Given the description of an element on the screen output the (x, y) to click on. 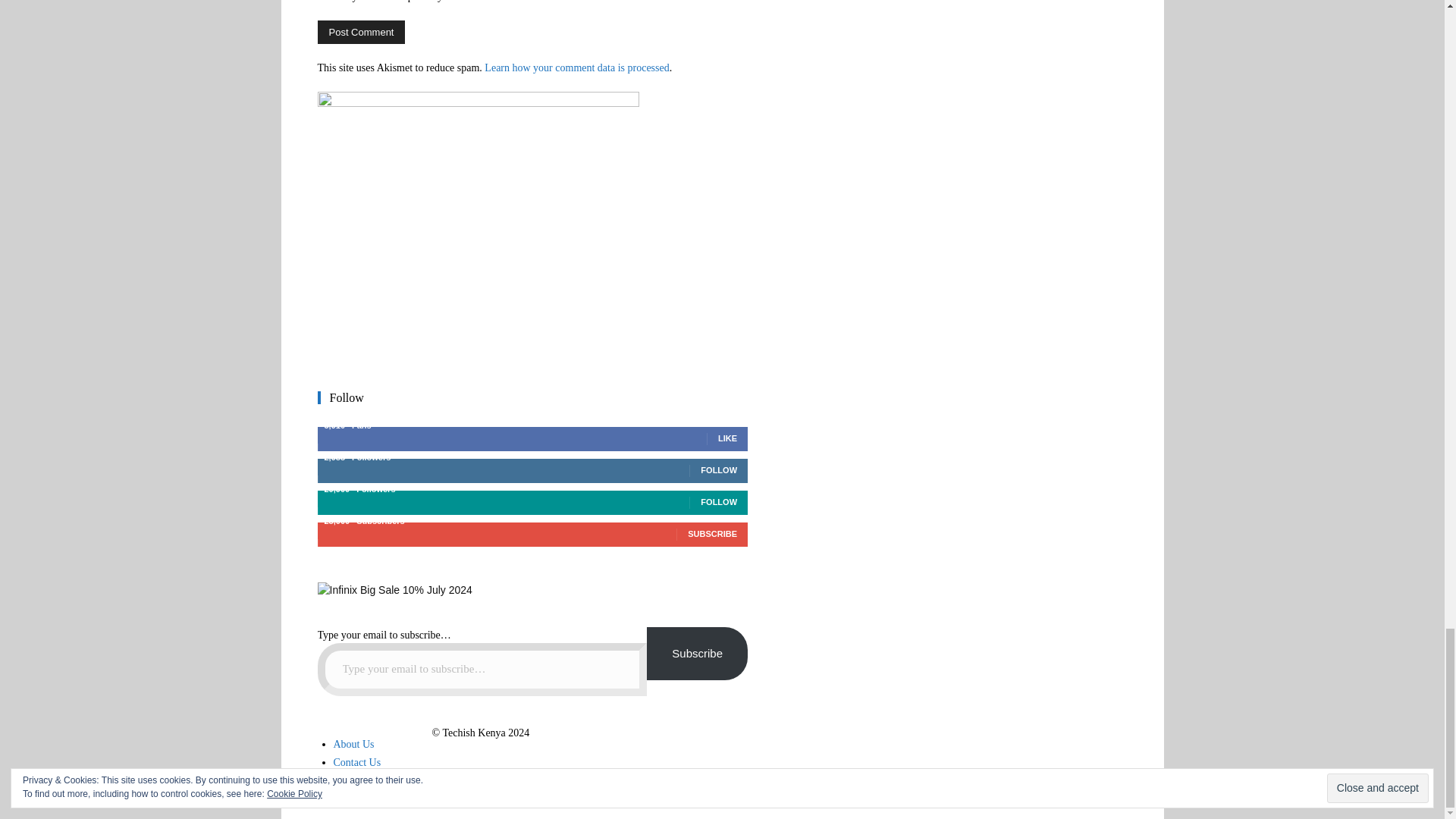
Post Comment (360, 32)
